Given the description of an element on the screen output the (x, y) to click on. 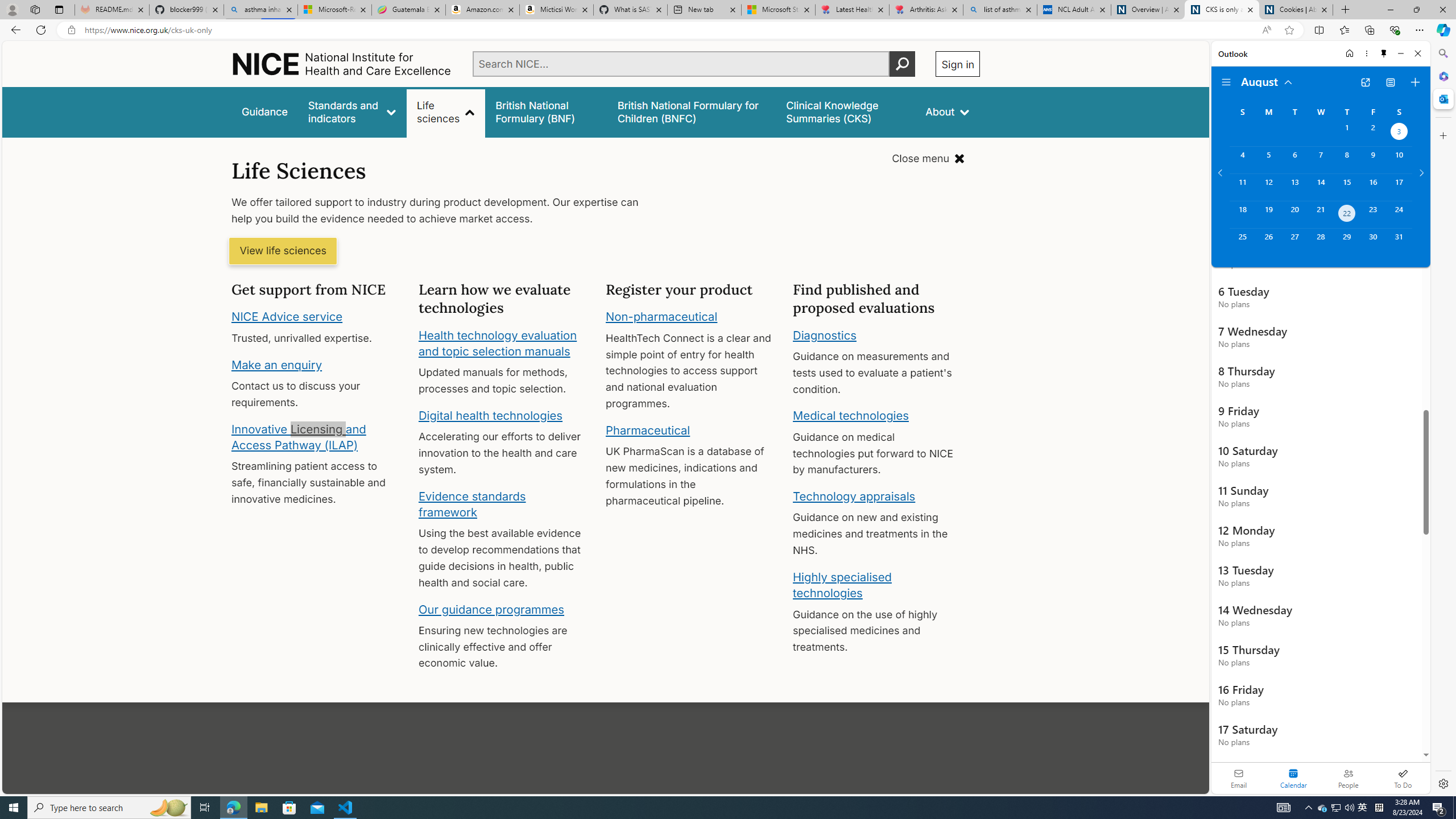
To Do (1402, 777)
Sunday, August 18, 2024.  (1242, 214)
August (1267, 80)
Create event (1414, 82)
Monday, August 12, 2024.  (1268, 186)
Guidance (264, 111)
Sunday, August 11, 2024.  (1242, 186)
Unpin side pane (1383, 53)
